Given the description of an element on the screen output the (x, y) to click on. 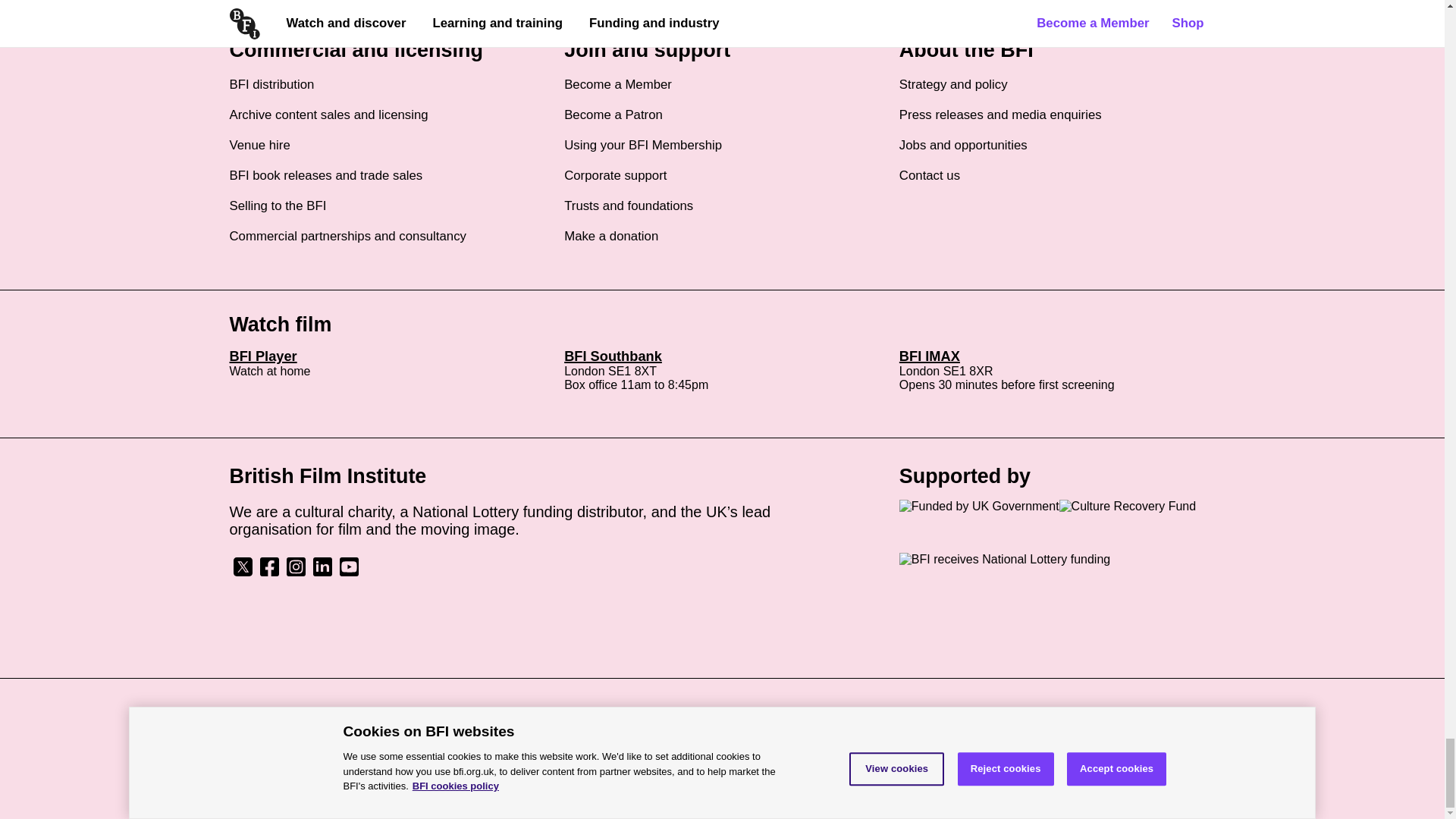
BFI book releases and trade sales (325, 175)
Commercial and licensing (355, 50)
Become a Patron (613, 114)
Archive content sales and licensing (328, 114)
Twitter (242, 566)
Selling to the BFI (277, 206)
BFI distribution (271, 84)
Venue hire (258, 145)
View our Twitter (242, 572)
View our Instagram (295, 572)
